Given the description of an element on the screen output the (x, y) to click on. 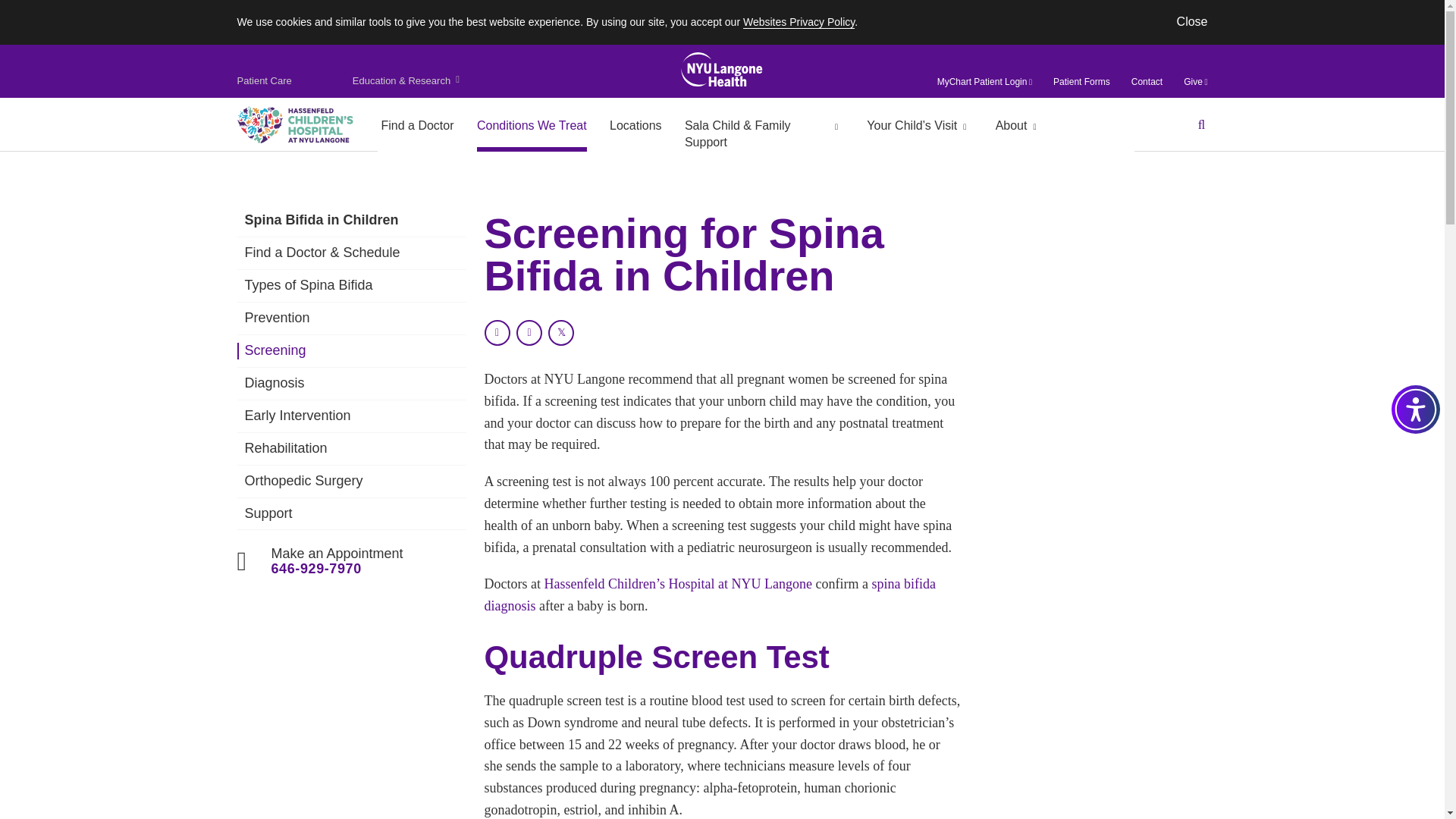
Close (1192, 21)
Hassenfeld Children's Hospital at NYU Langone (293, 124)
Websites Privacy Policy (798, 21)
Contact (1146, 81)
Patient Forms (1080, 81)
Locations (635, 125)
MyChart Patient Login (984, 81)
Patient Care (264, 80)
Conditions We Treat (532, 125)
Find a Doctor (417, 125)
Give (1195, 81)
Accessibility Menu (1415, 409)
Share through twitter (560, 332)
Share through facebook (528, 332)
